Given the description of an element on the screen output the (x, y) to click on. 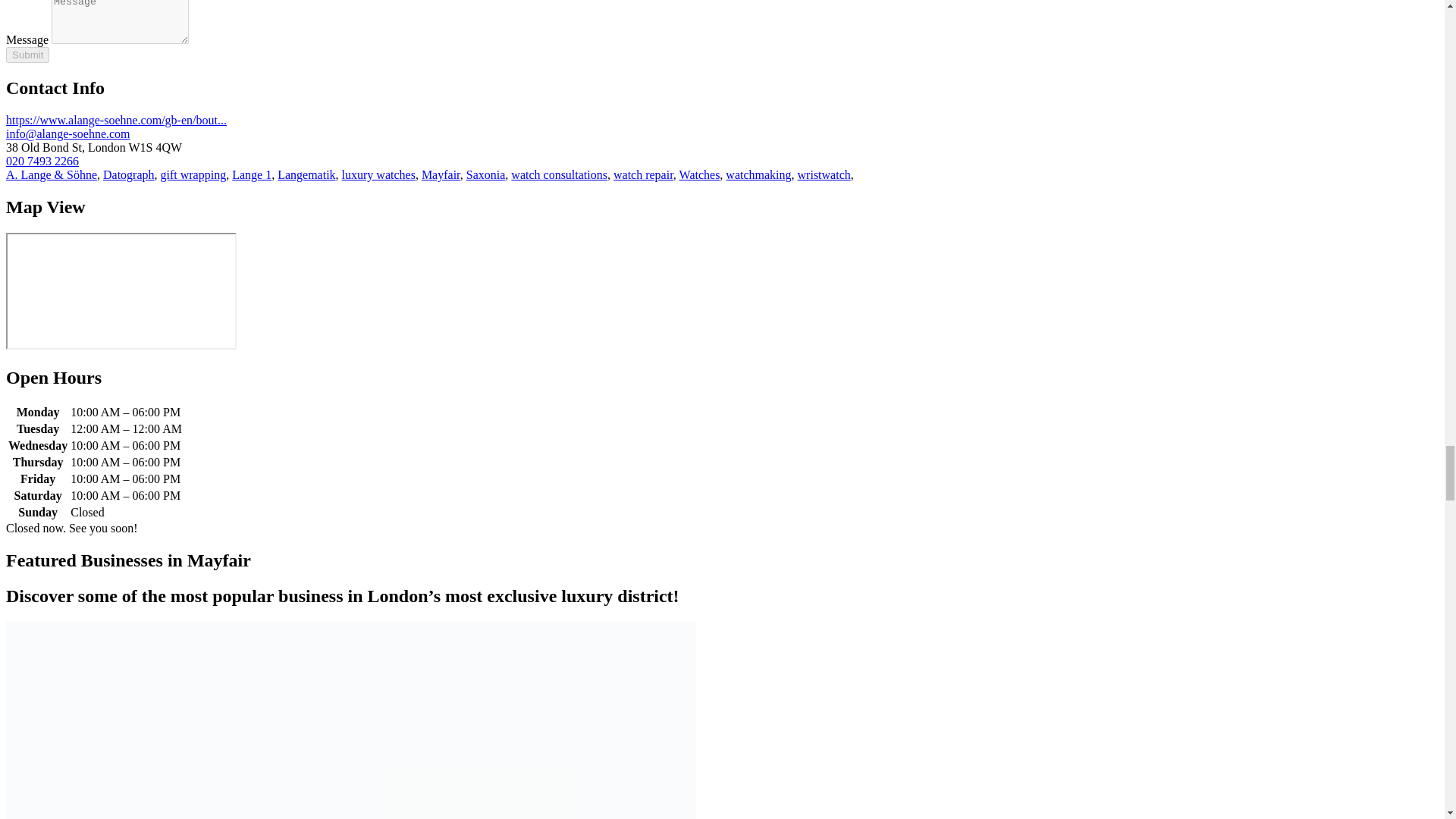
38 Old Bond St, London W1S 4QW (120, 290)
